Given the description of an element on the screen output the (x, y) to click on. 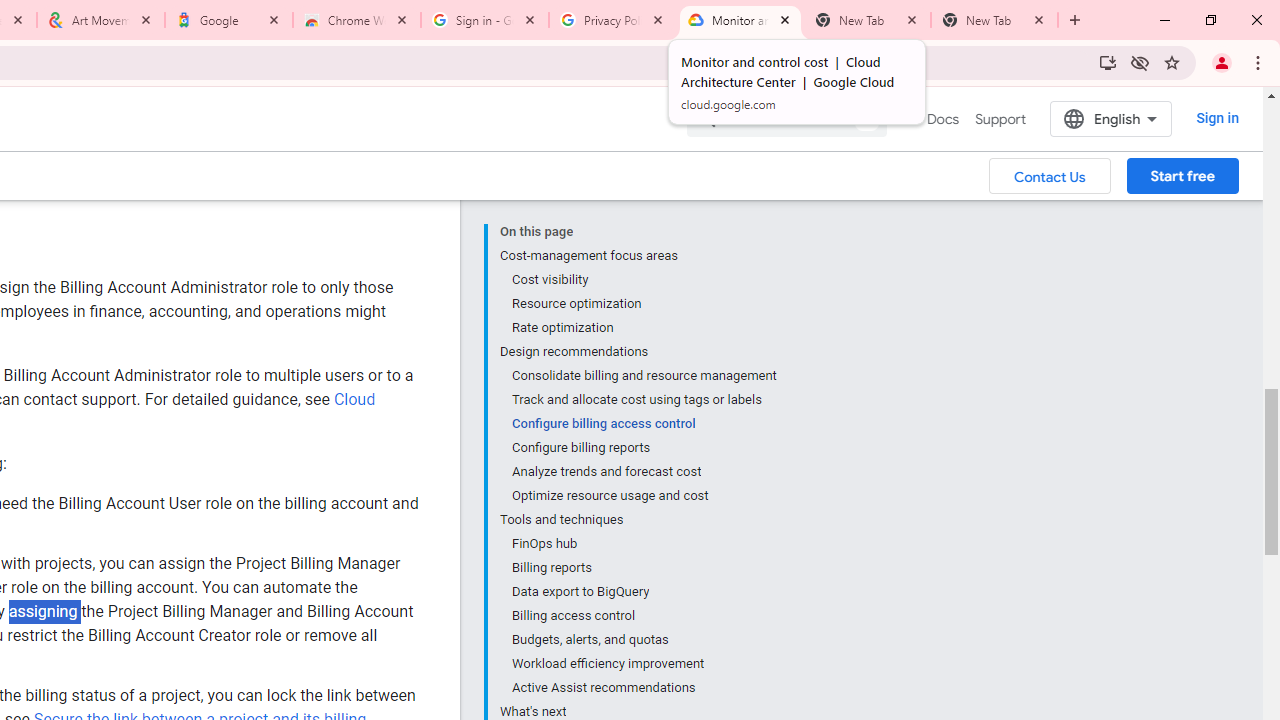
Configure billing reports (643, 448)
Chrome Web Store - Color themes by Chrome (357, 20)
Track and allocate cost using tags or labels (643, 399)
What's next (637, 709)
New Tab (994, 20)
Support (1000, 119)
Rate optimization (643, 327)
Billing access control (643, 615)
